Given the description of an element on the screen output the (x, y) to click on. 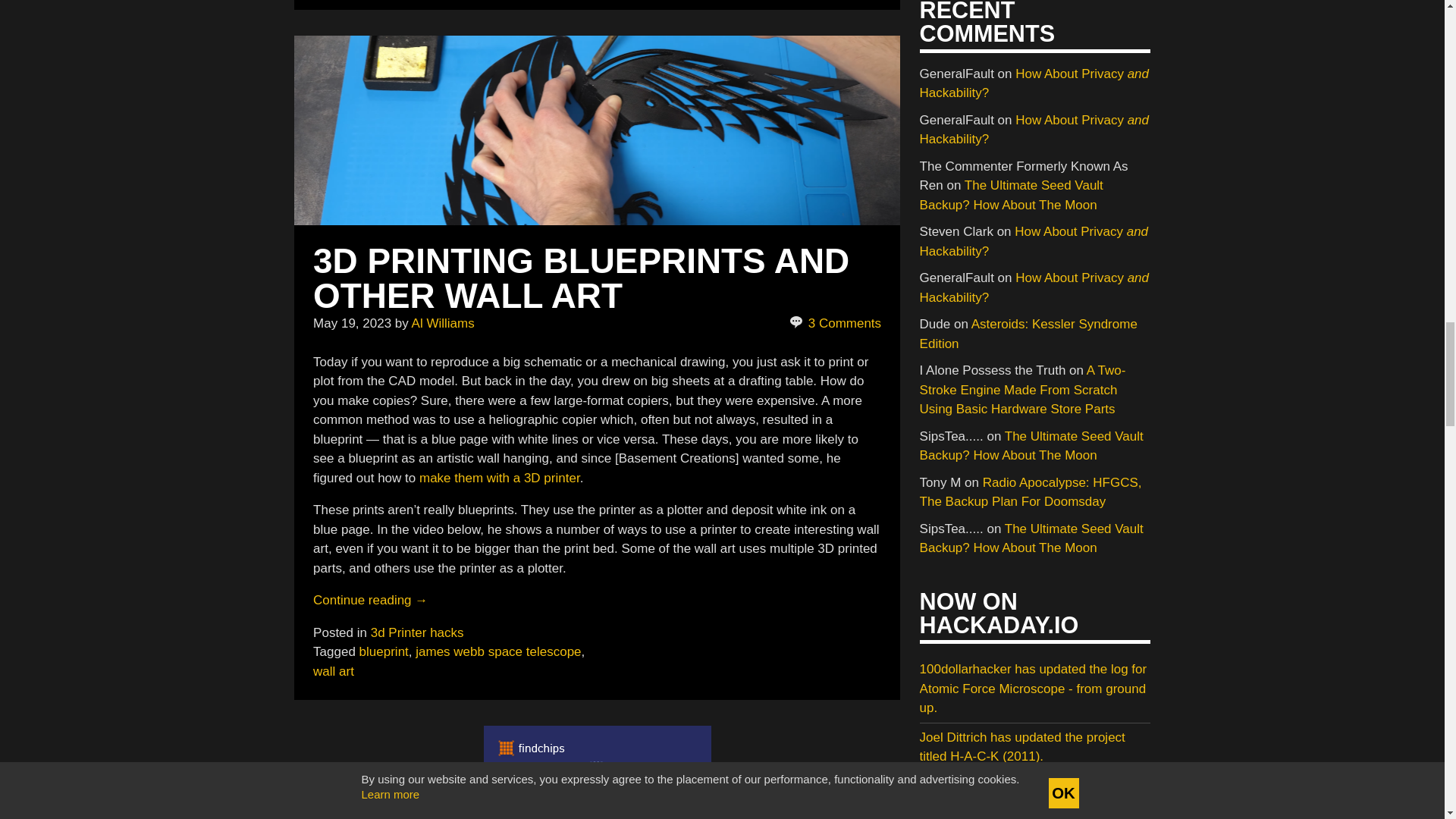
Posts by Al Williams (443, 323)
May 19, 2023 - 1:00 pm (352, 323)
